Given the description of an element on the screen output the (x, y) to click on. 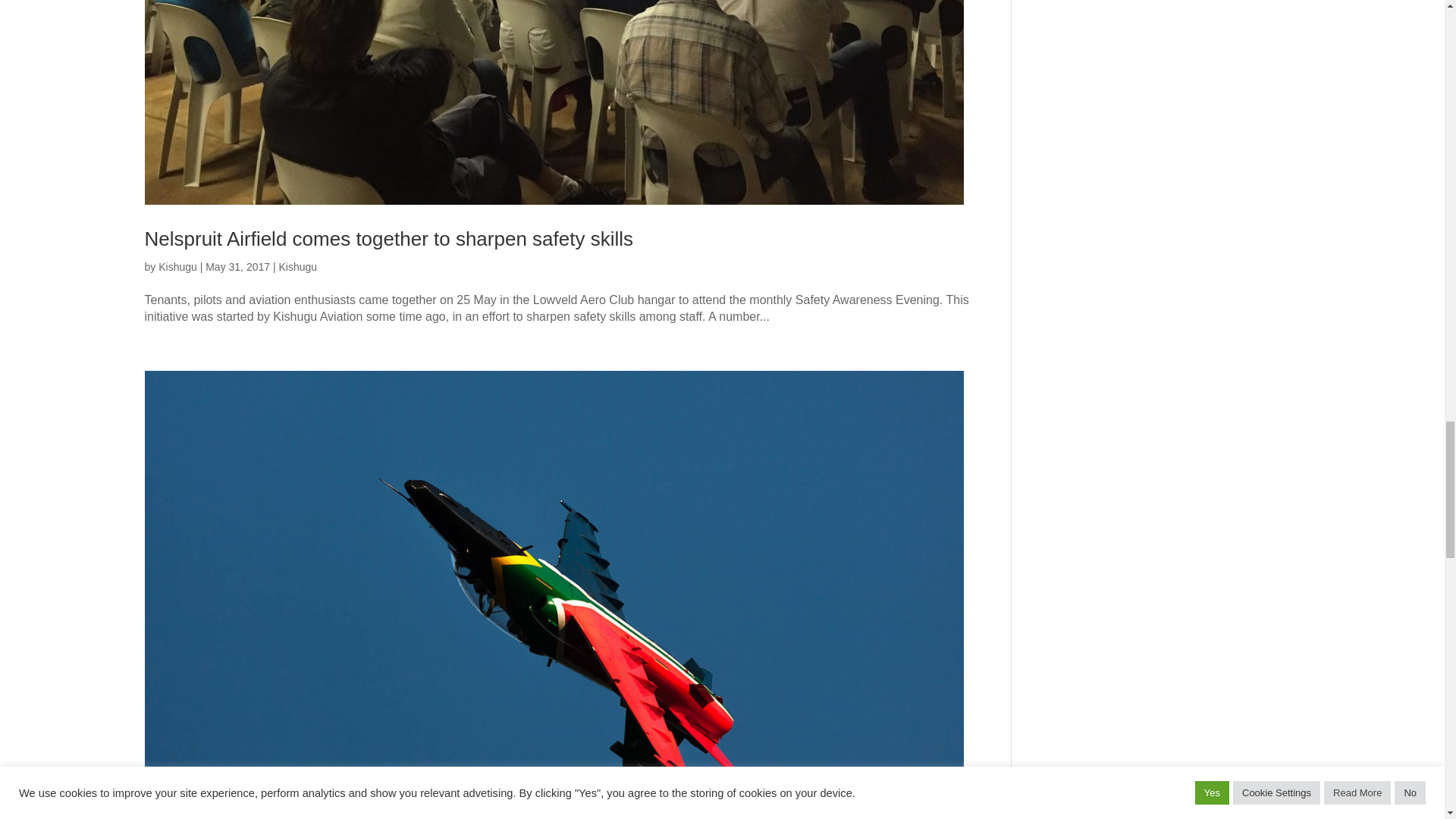
Posts by Kishugu (177, 266)
